Given the description of an element on the screen output the (x, y) to click on. 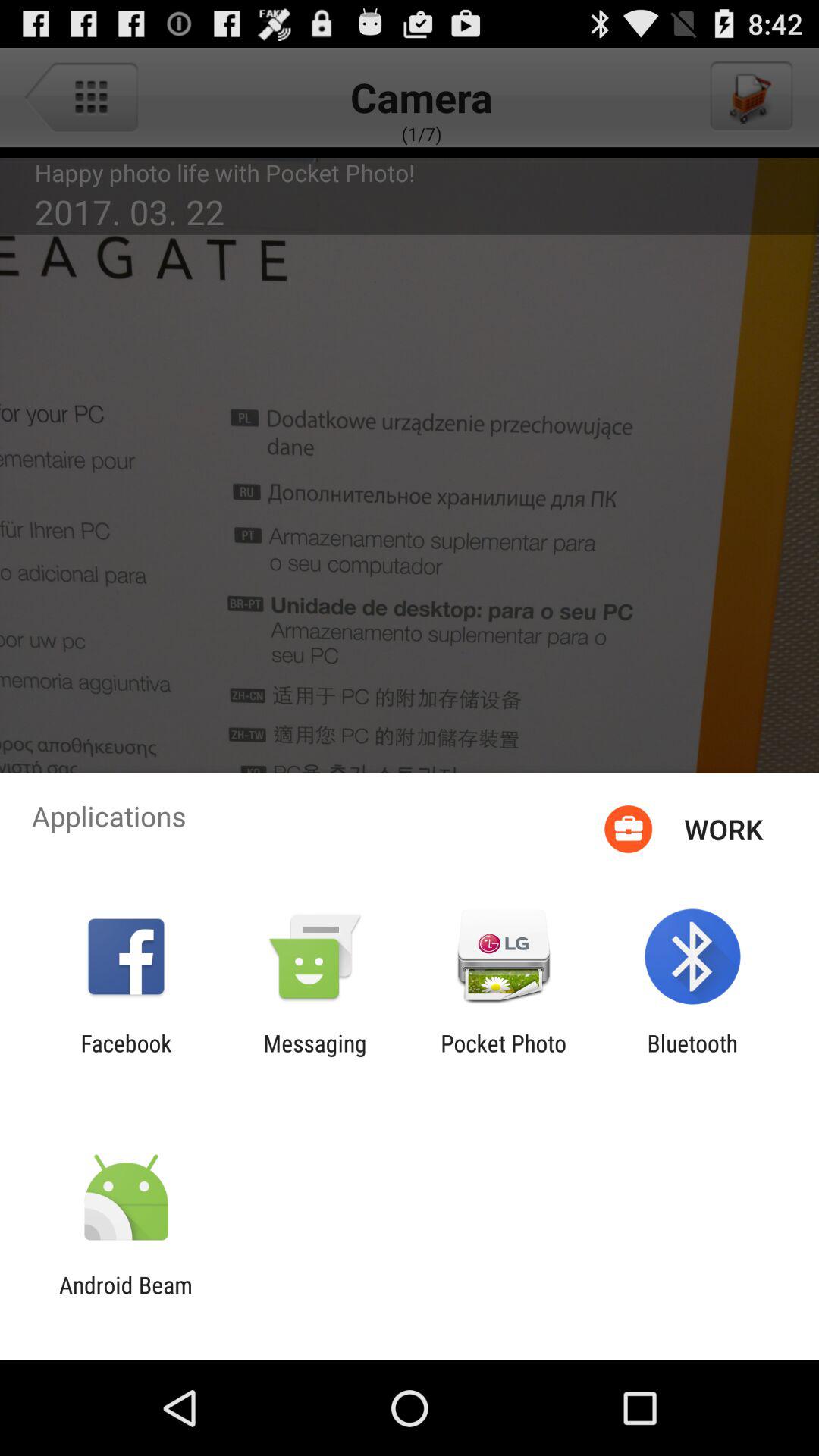
turn on icon to the right of the facebook (314, 1056)
